Given the description of an element on the screen output the (x, y) to click on. 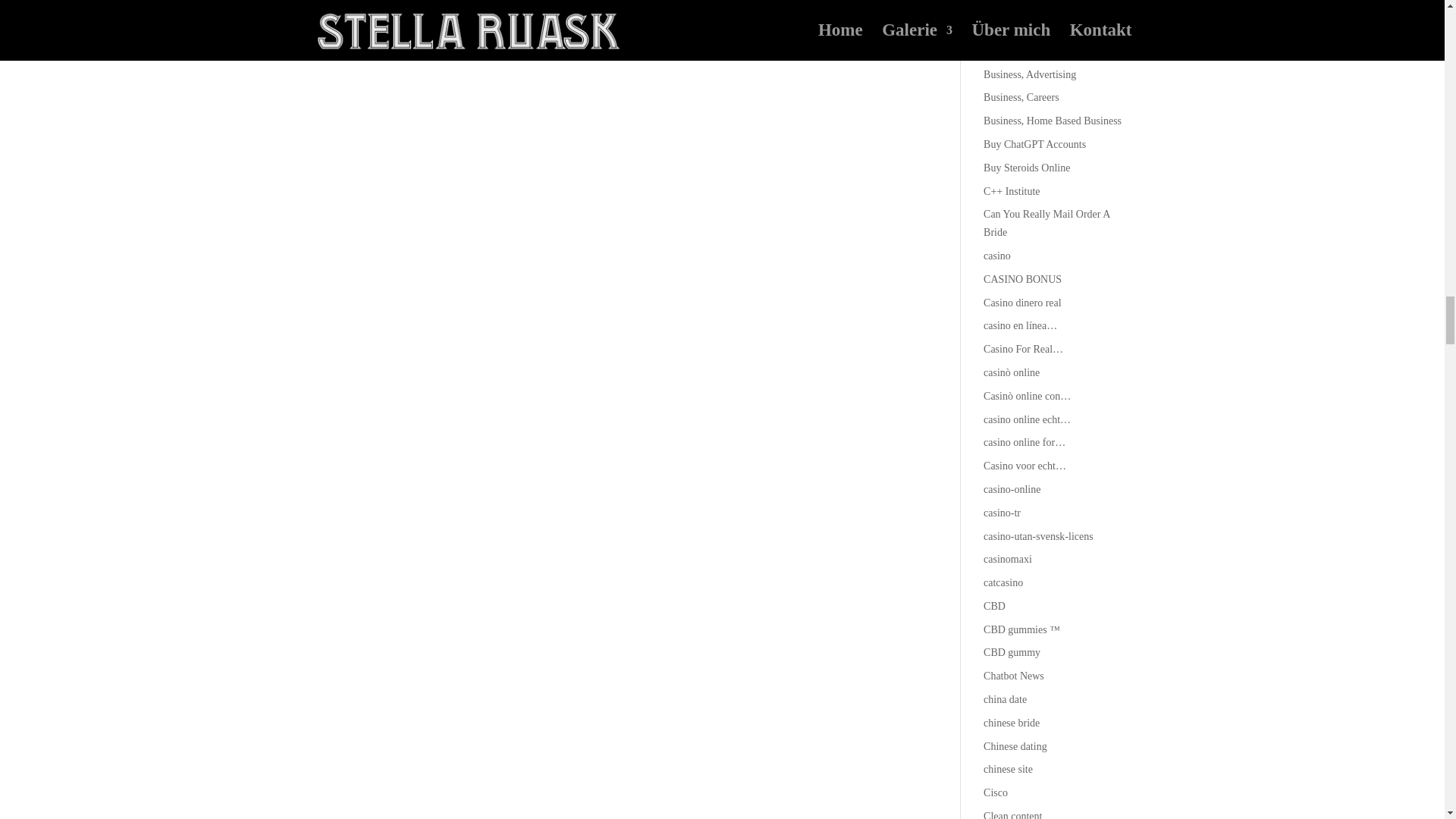
Business, Careers (1021, 97)
Business, Advertising (1029, 74)
Business, Home Based Business (1052, 120)
